Given the description of an element on the screen output the (x, y) to click on. 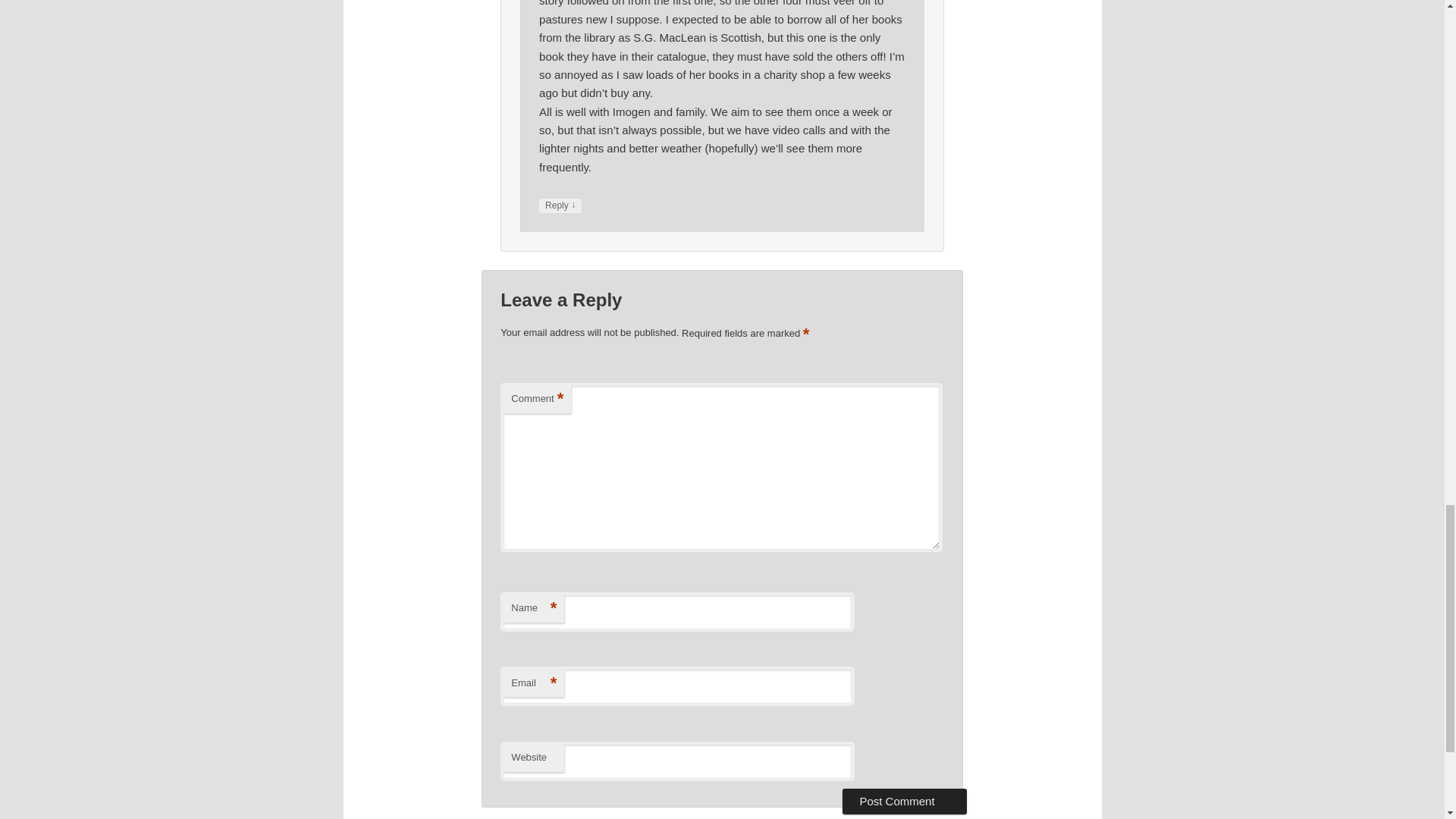
Post Comment (904, 801)
Post Comment (904, 801)
